Given the description of an element on the screen output the (x, y) to click on. 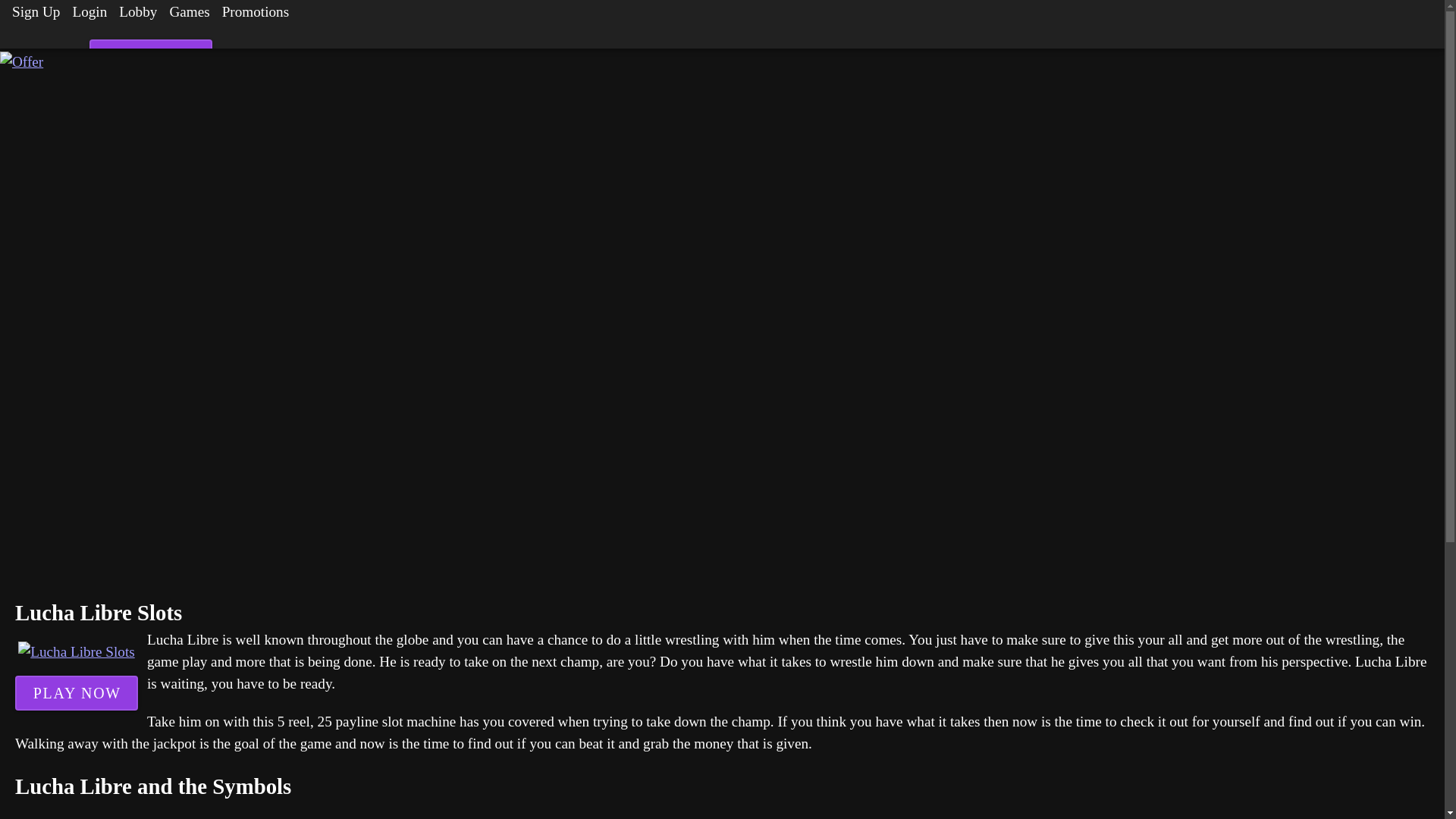
Sign Up (35, 15)
Login (89, 15)
Lobby (138, 15)
PLAY NOW (76, 692)
PLAY NOW (150, 56)
Promotions (255, 15)
Games (189, 15)
